Given the description of an element on the screen output the (x, y) to click on. 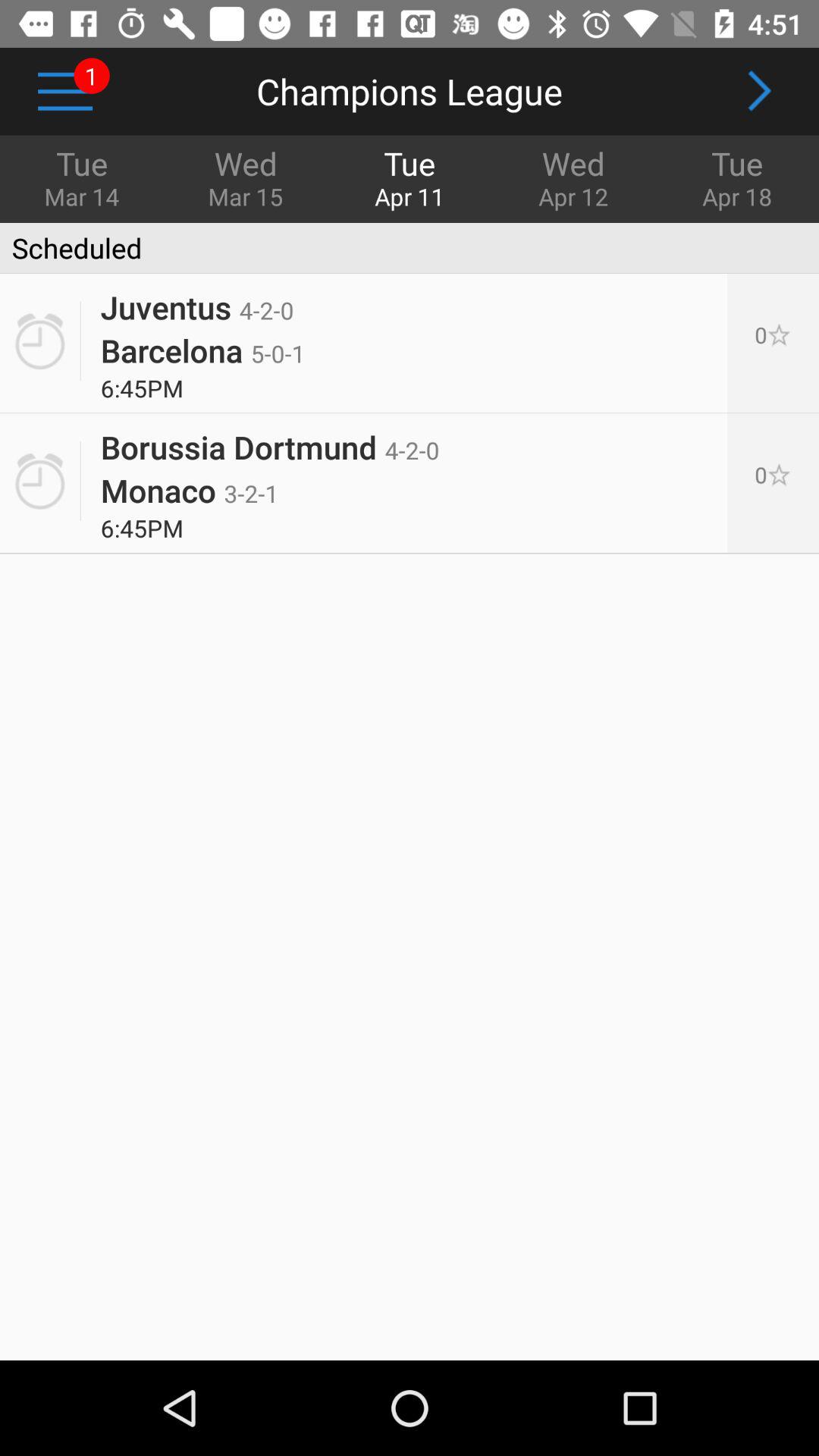
turn off icon next to the tue
mar 14 item (245, 176)
